Given the description of an element on the screen output the (x, y) to click on. 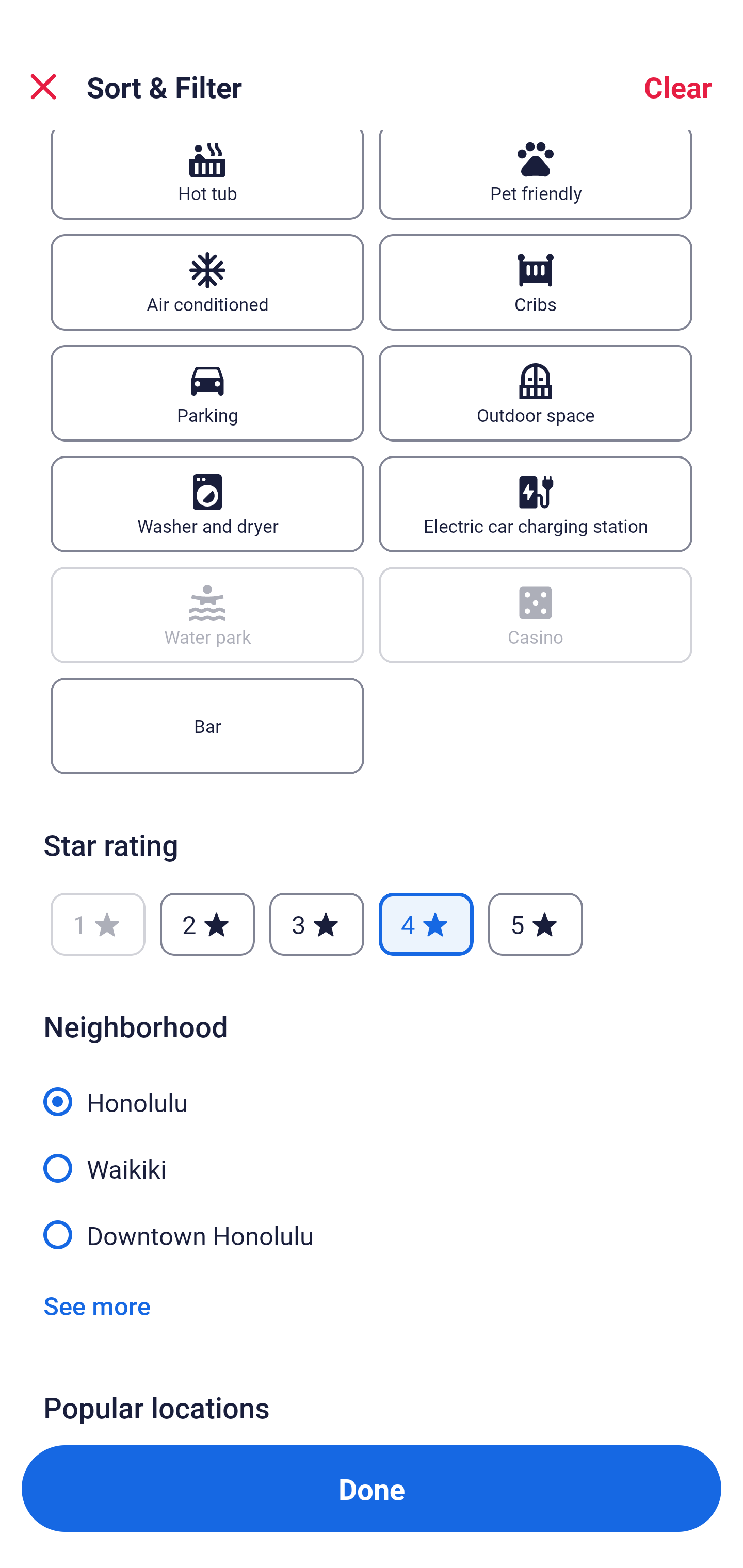
Close Sort and Filter (43, 86)
Clear (677, 86)
Hot tub (207, 174)
Pet friendly (535, 174)
Air conditioned (207, 281)
Cribs (535, 281)
Parking (207, 393)
Outdoor space (535, 393)
Washer and dryer (207, 503)
Electric car charging station (535, 503)
Water park (207, 615)
Casino (535, 615)
Bar (207, 725)
1 (97, 924)
2 (206, 924)
3 (316, 924)
4 (426, 924)
5 (535, 924)
Waikiki (371, 1157)
Downtown Honolulu (371, 1233)
See more See more neighborhoods Link (96, 1305)
Apply and close Sort and Filter Done (371, 1488)
